Given the description of an element on the screen output the (x, y) to click on. 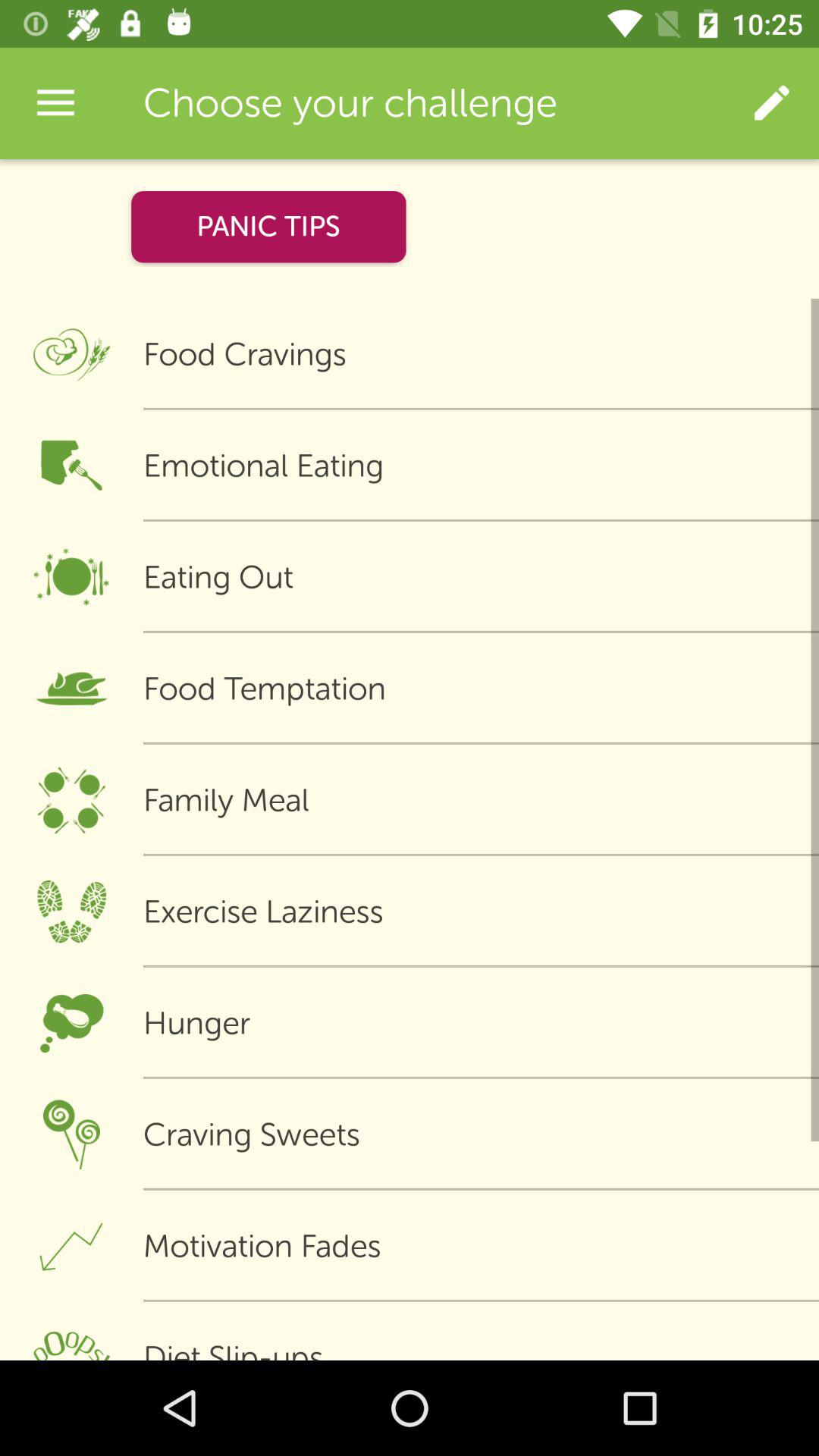
select the icon at the top right corner (771, 103)
